Given the description of an element on the screen output the (x, y) to click on. 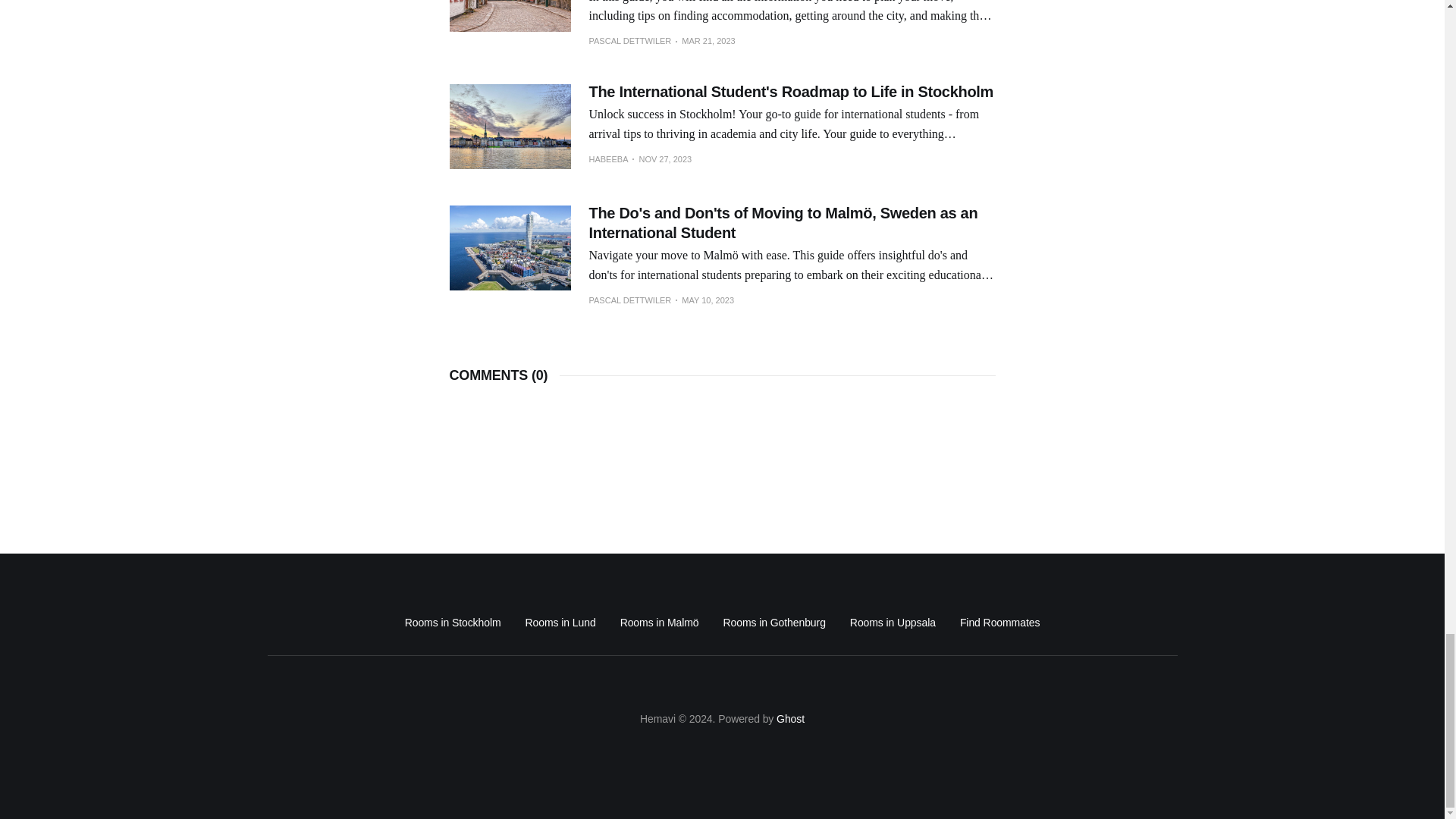
Rooms in Stockholm (452, 622)
Find Roommates (999, 622)
Rooms in Lund (560, 622)
Rooms in Gothenburg (773, 622)
Rooms in Uppsala (893, 622)
Ghost (790, 718)
